Given the description of an element on the screen output the (x, y) to click on. 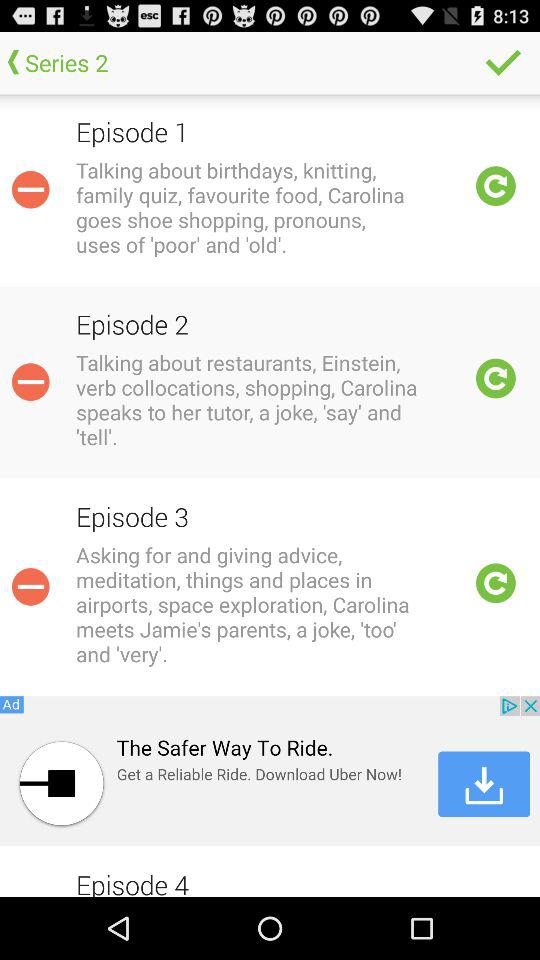
click on advertisement (270, 771)
